Given the description of an element on the screen output the (x, y) to click on. 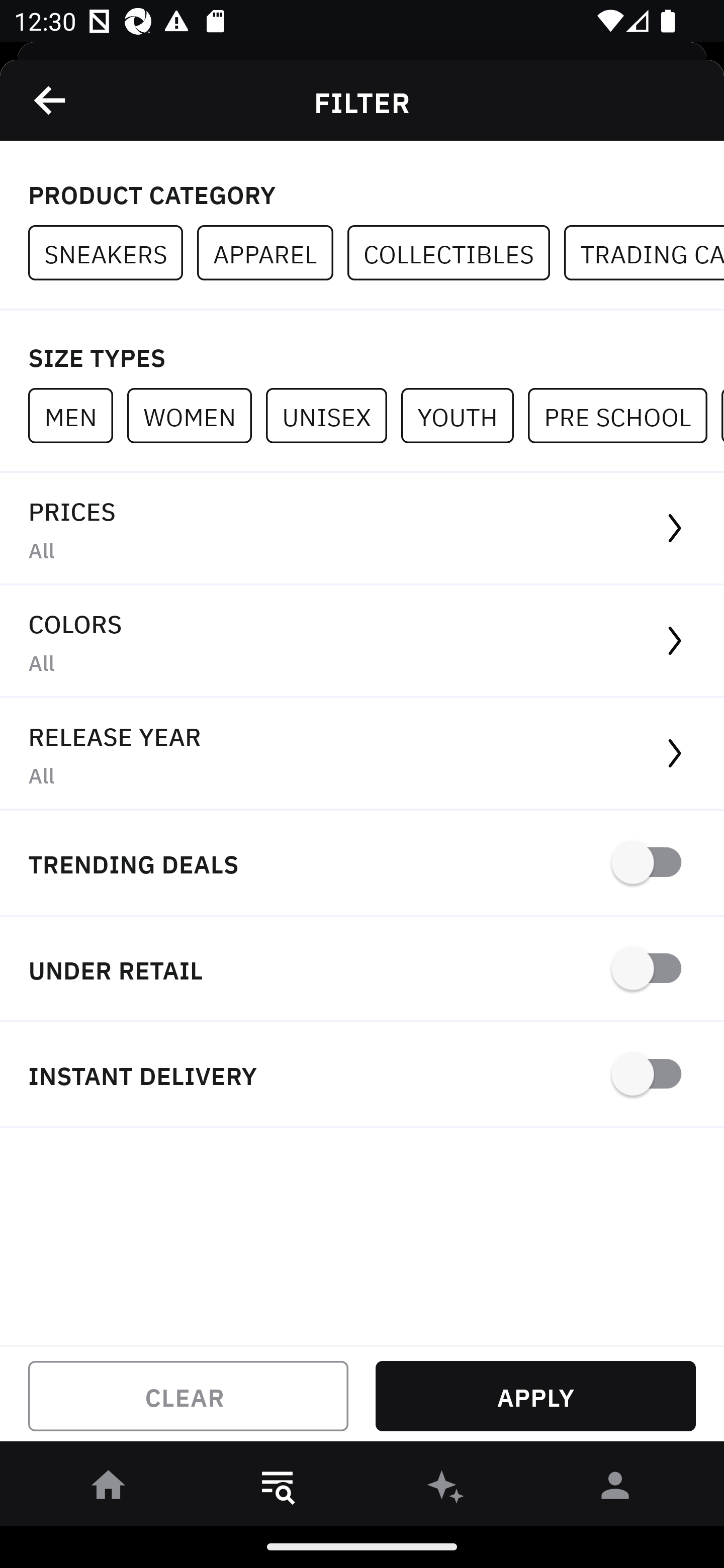
 (50, 100)
SNEAKERS (112, 252)
APPAREL (271, 252)
COLLECTIBLES (455, 252)
TRADING CARDS (643, 252)
MEN (77, 415)
WOMEN (196, 415)
UNISEX (333, 415)
YOUTH (464, 415)
PRE SCHOOL (624, 415)
PRICES All (362, 528)
COLORS All (362, 640)
RELEASE YEAR All (362, 753)
TRENDING DEALS (362, 863)
UNDER RETAIL (362, 969)
INSTANT DELIVERY (362, 1075)
CLEAR  (188, 1396)
APPLY (535, 1396)
󰋜 (108, 1488)
󱎸 (277, 1488)
󰫢 (446, 1488)
󰀄 (615, 1488)
